Given the description of an element on the screen output the (x, y) to click on. 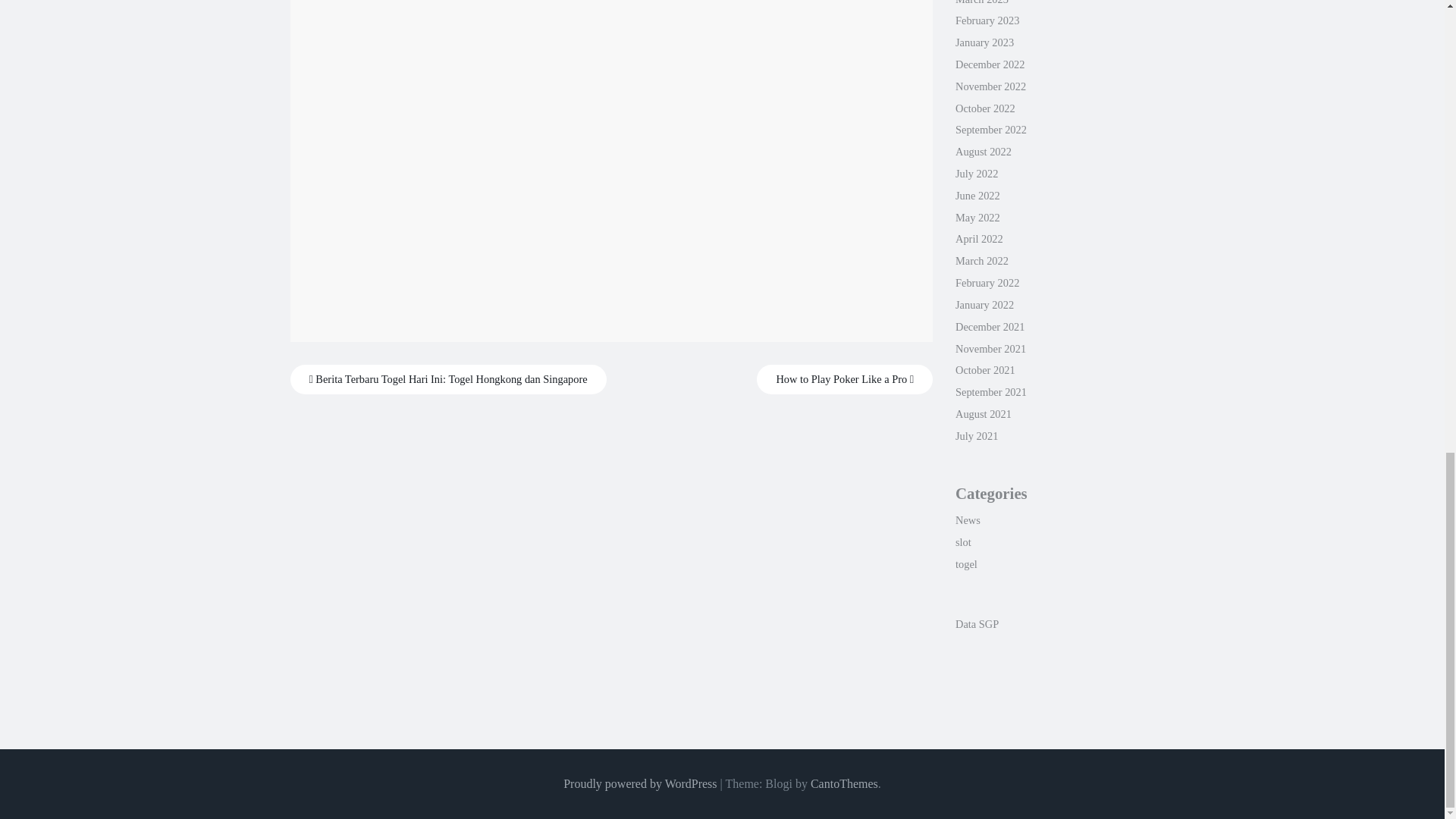
January 2023 (984, 42)
December 2022 (990, 64)
March 2023 (982, 2)
July 2022 (976, 173)
October 2022 (984, 108)
August 2022 (983, 151)
November 2022 (990, 86)
September 2022 (990, 129)
February 2023 (987, 20)
Berita Terbaru Togel Hari Ini: Togel Hongkong dan Singapore (447, 378)
How to Play Poker Like a Pro (845, 378)
